Given the description of an element on the screen output the (x, y) to click on. 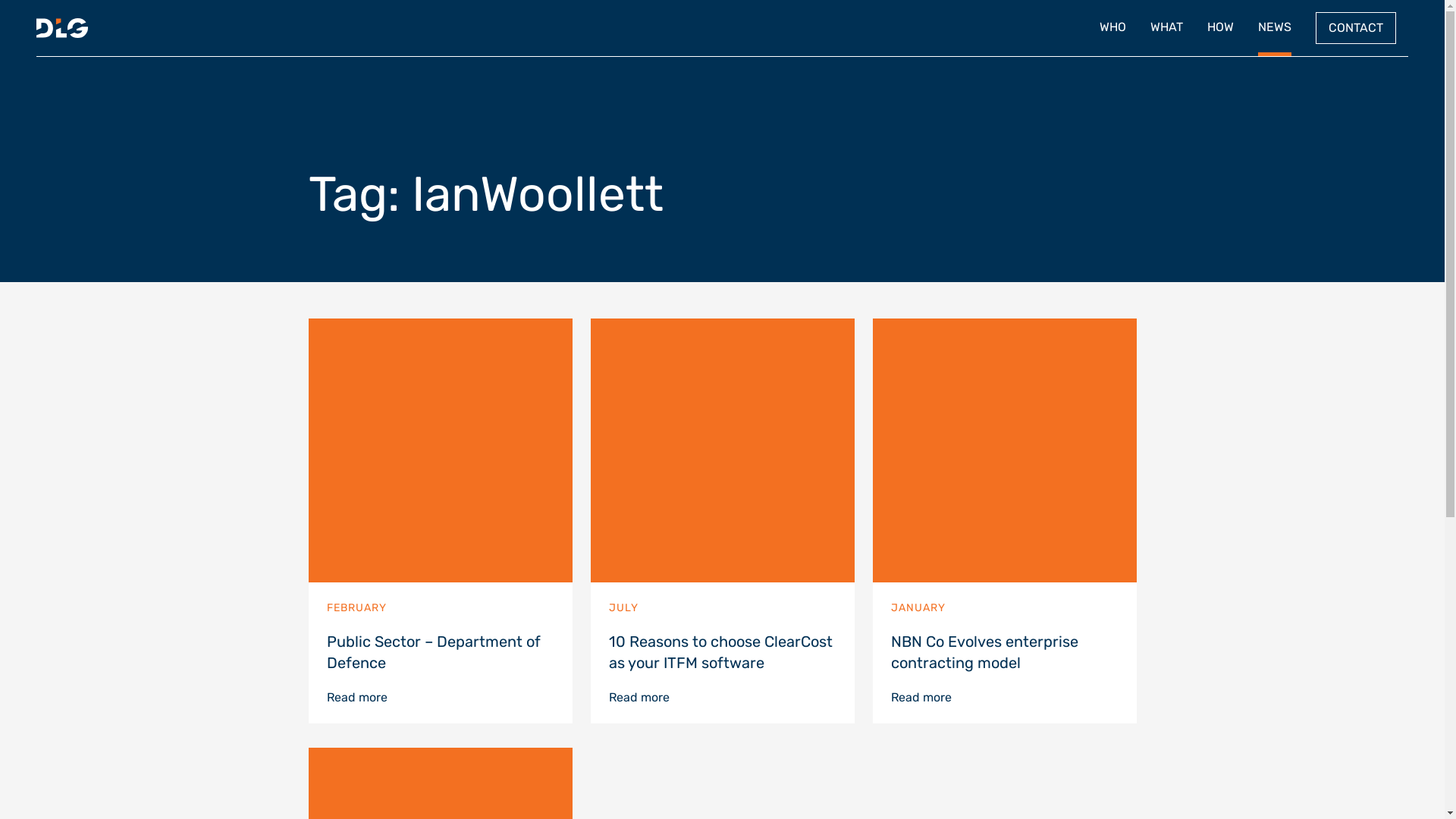
WHAT Element type: text (1166, 28)
Read more Element type: text (920, 697)
JANUARY
NBN Co Evolves enterprise contracting model Element type: text (1003, 503)
Read more Element type: text (356, 697)
Read more Element type: text (638, 697)
HOW Element type: text (1220, 28)
CONTACT Element type: text (1355, 27)
JULY
10 Reasons to choose ClearCost as your ITFM software Element type: text (721, 503)
Skip to content Element type: text (1443, 0)
NEWS Element type: text (1274, 28)
WHO Element type: text (1112, 28)
